Given the description of an element on the screen output the (x, y) to click on. 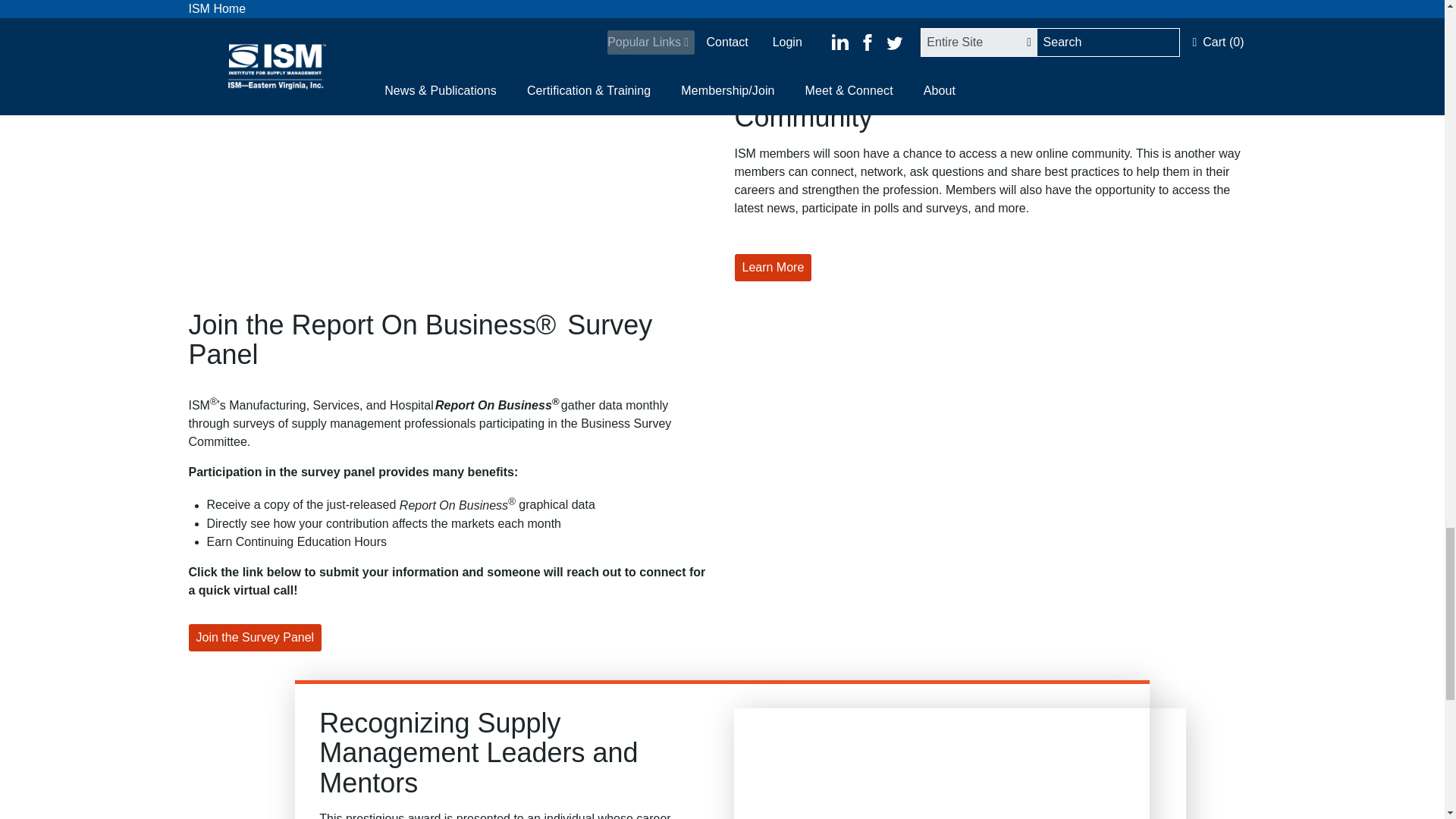
YouTube video player (959, 763)
